Given the description of an element on the screen output the (x, y) to click on. 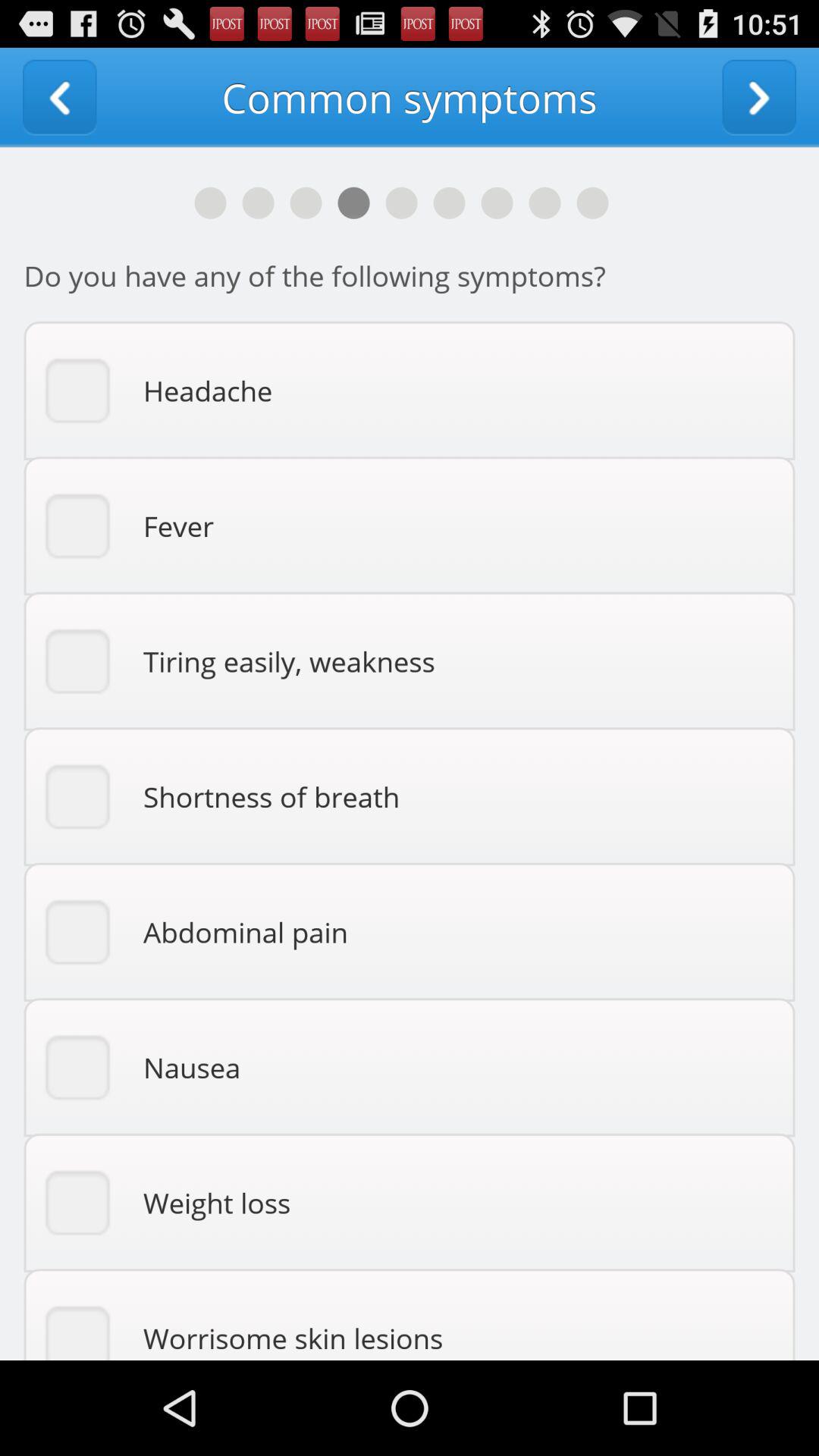
go to next page (759, 97)
